Given the description of an element on the screen output the (x, y) to click on. 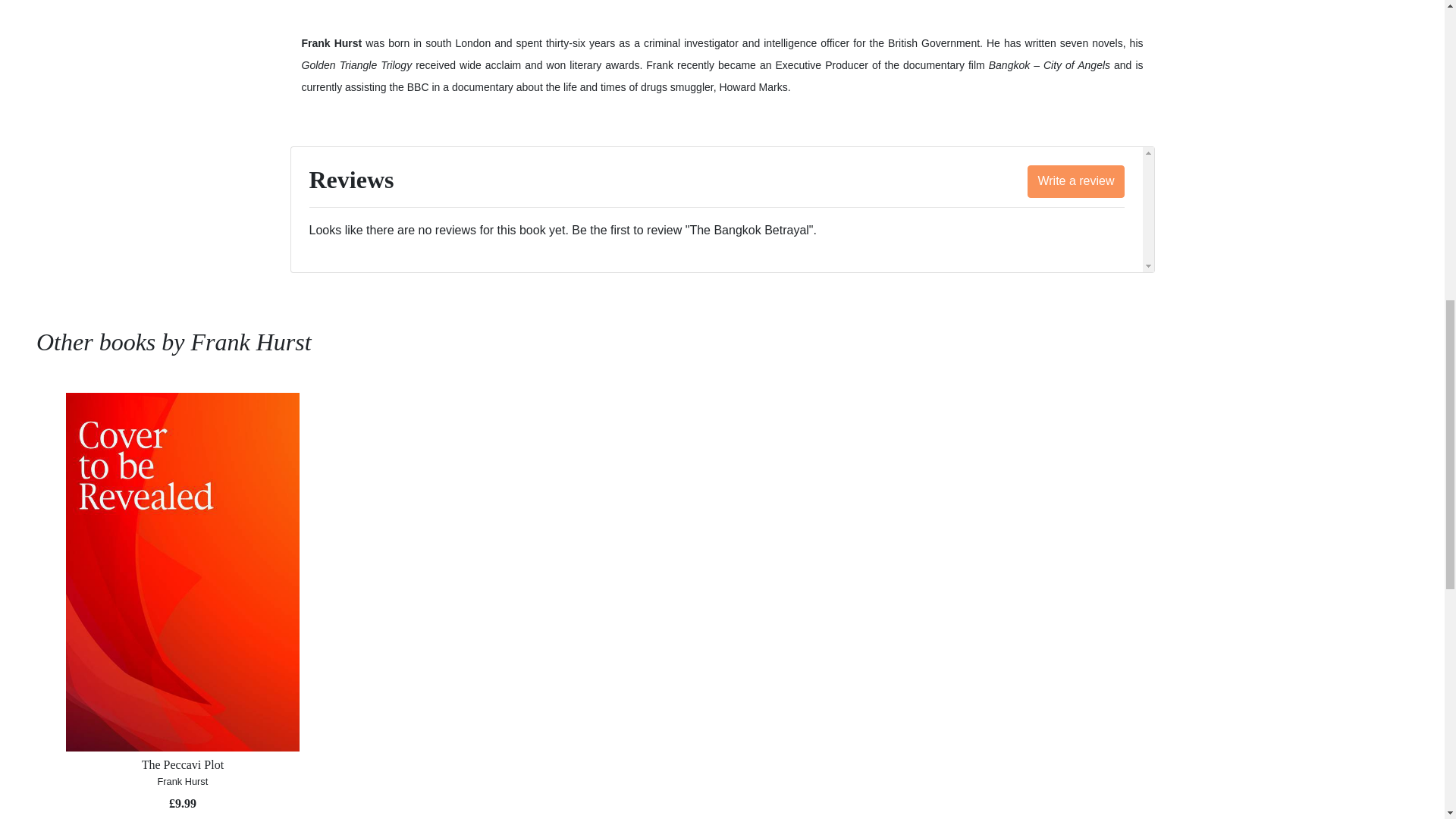
Write a review (1075, 181)
